Given the description of an element on the screen output the (x, y) to click on. 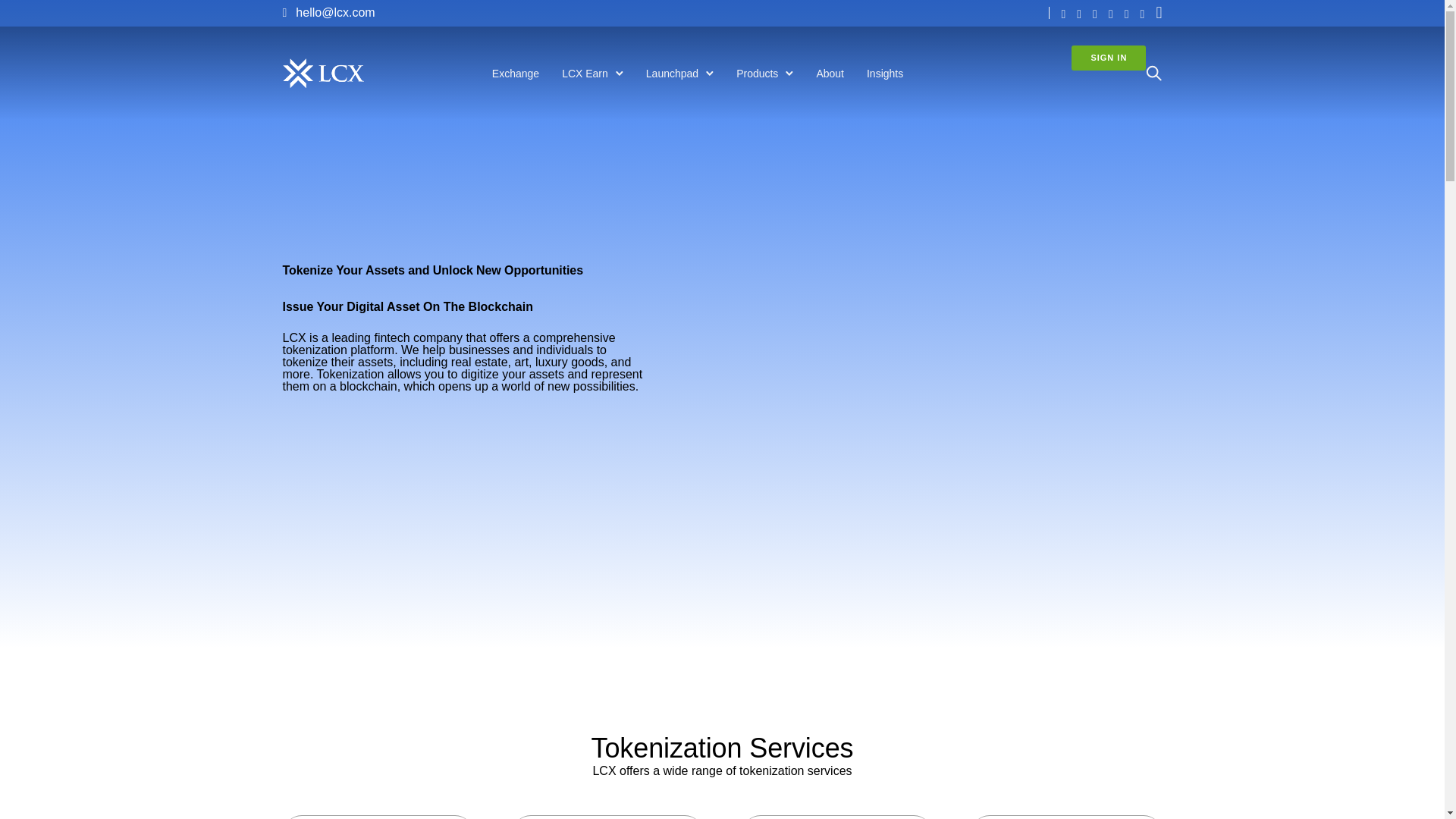
Launchpad (672, 72)
Exchange (515, 72)
LCX Earn (584, 72)
Products (757, 72)
Launchpad (672, 72)
Products (757, 72)
LCX Earn (584, 72)
About (829, 72)
Insights (885, 72)
Exchange (515, 72)
